Given the description of an element on the screen output the (x, y) to click on. 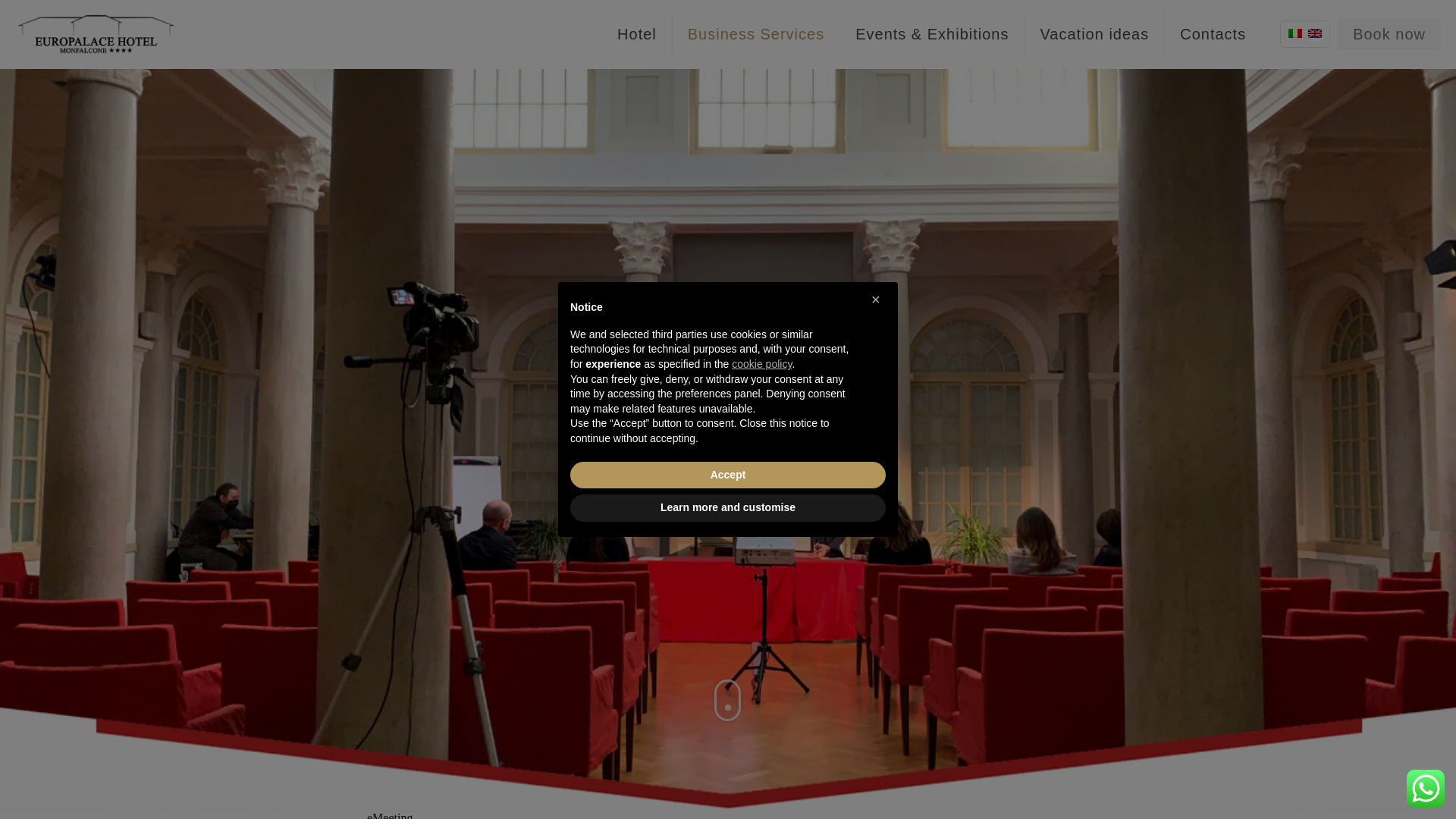
Vacation ideas (1095, 33)
Accept (727, 474)
Hotel (637, 33)
Credits (881, 779)
Learn more and customise (727, 507)
Book now (1389, 33)
Privacy Policy (821, 779)
Contacts (1212, 33)
Cookie Policy (741, 779)
cookie policy (762, 363)
Business Services (756, 33)
